Given the description of an element on the screen output the (x, y) to click on. 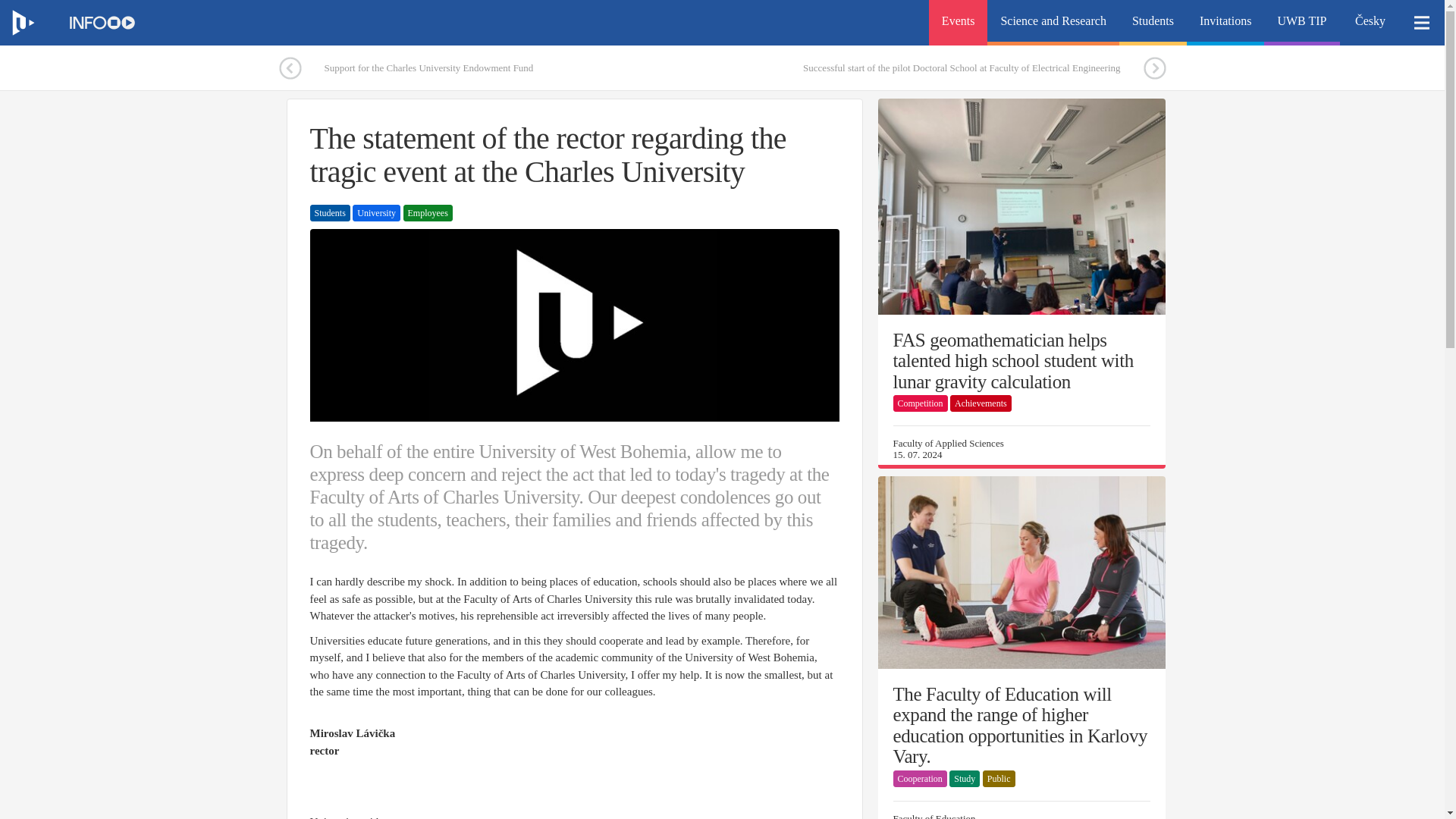
Public (998, 778)
Support for the Charles University Endowment Fund (451, 67)
Cooperation (920, 778)
UWB TIP (1301, 22)
Study (964, 778)
Students (1152, 22)
Achievements (980, 402)
Science and Research (1052, 22)
